Given the description of an element on the screen output the (x, y) to click on. 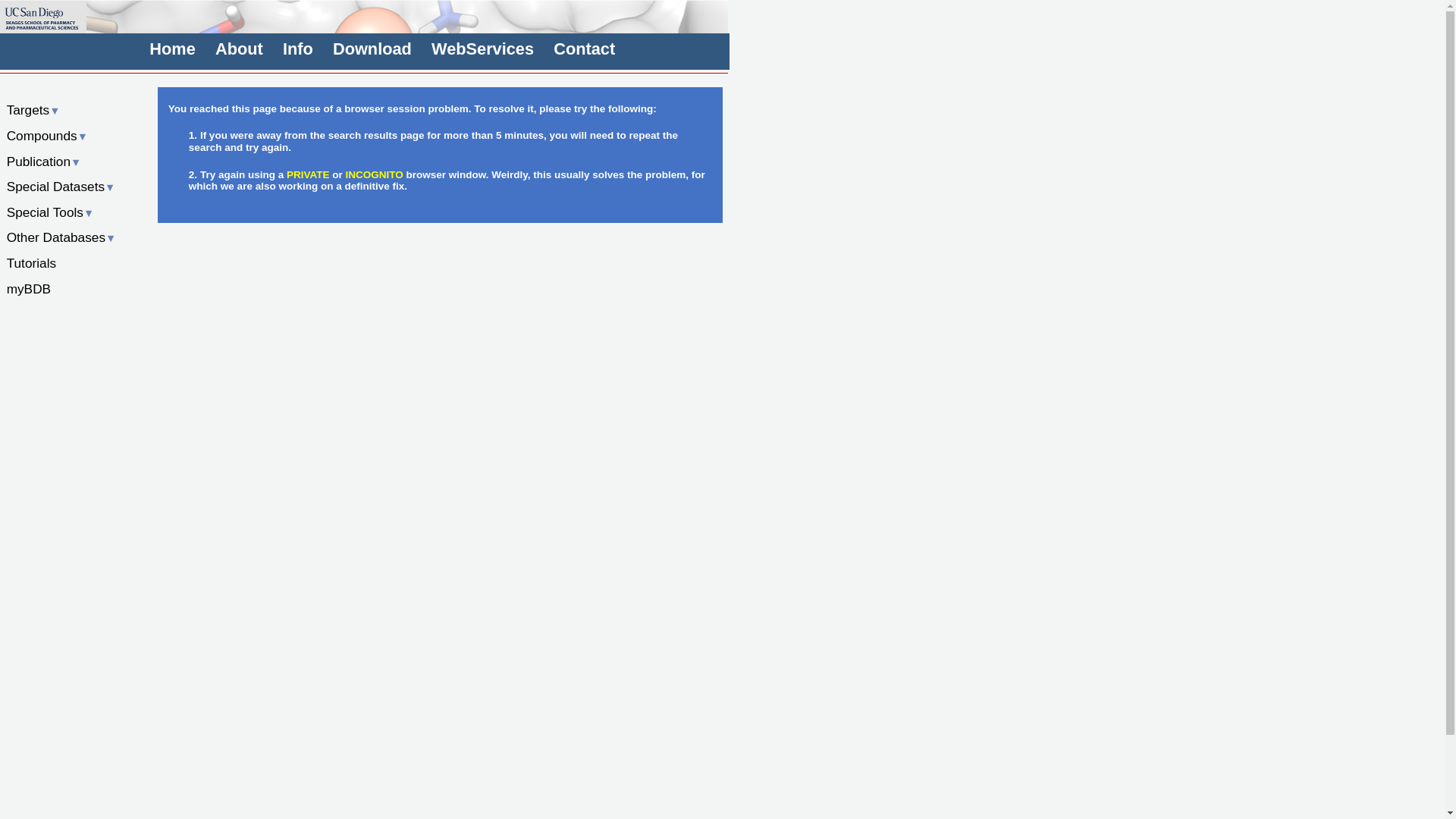
Contact (584, 47)
WebServices (483, 47)
Download (371, 47)
Info (298, 47)
Home (172, 47)
About (238, 47)
